Given the description of an element on the screen output the (x, y) to click on. 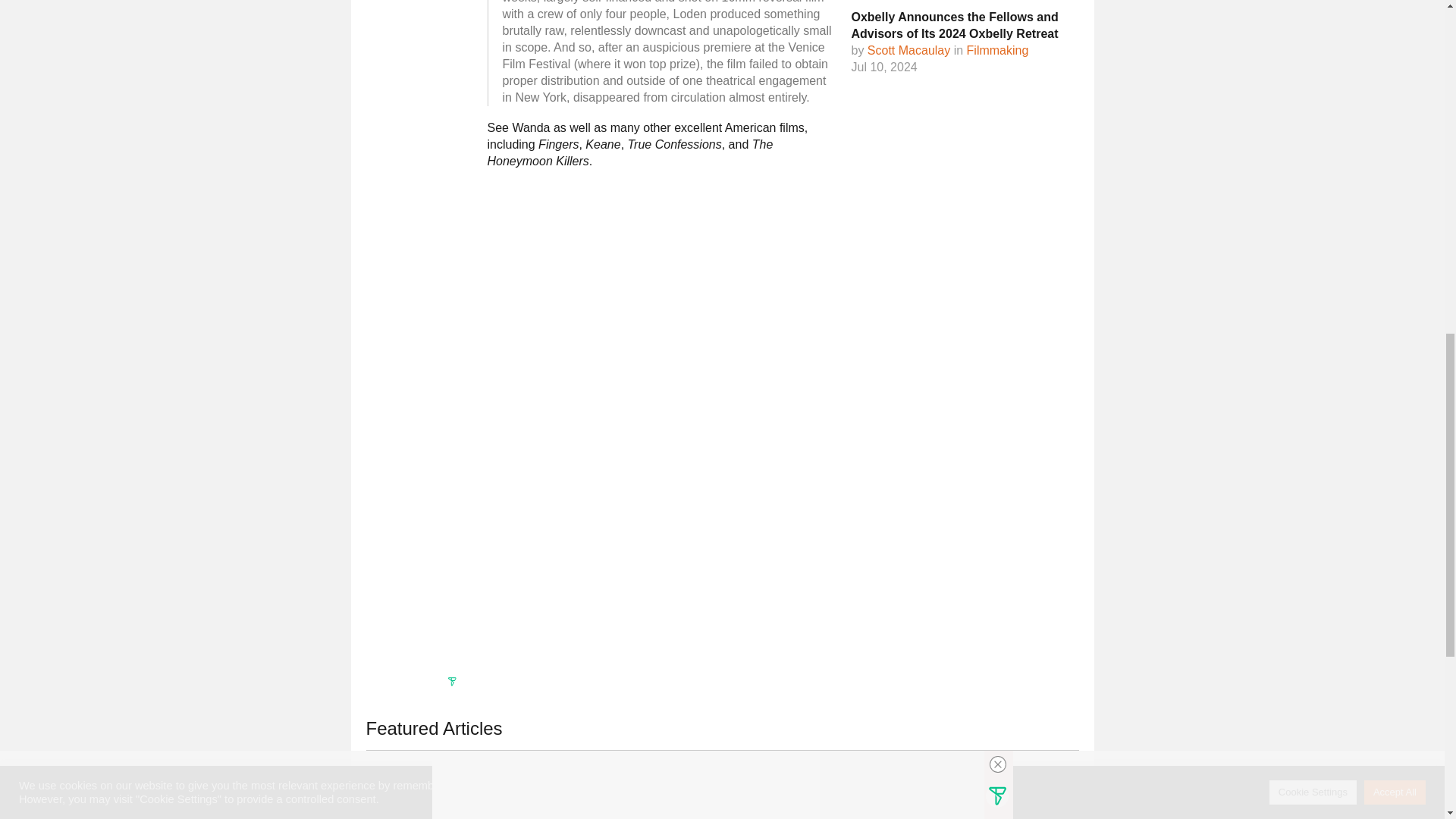
3rd party ad content (721, 638)
Posts by Scott Macaulay (908, 50)
